Given the description of an element on the screen output the (x, y) to click on. 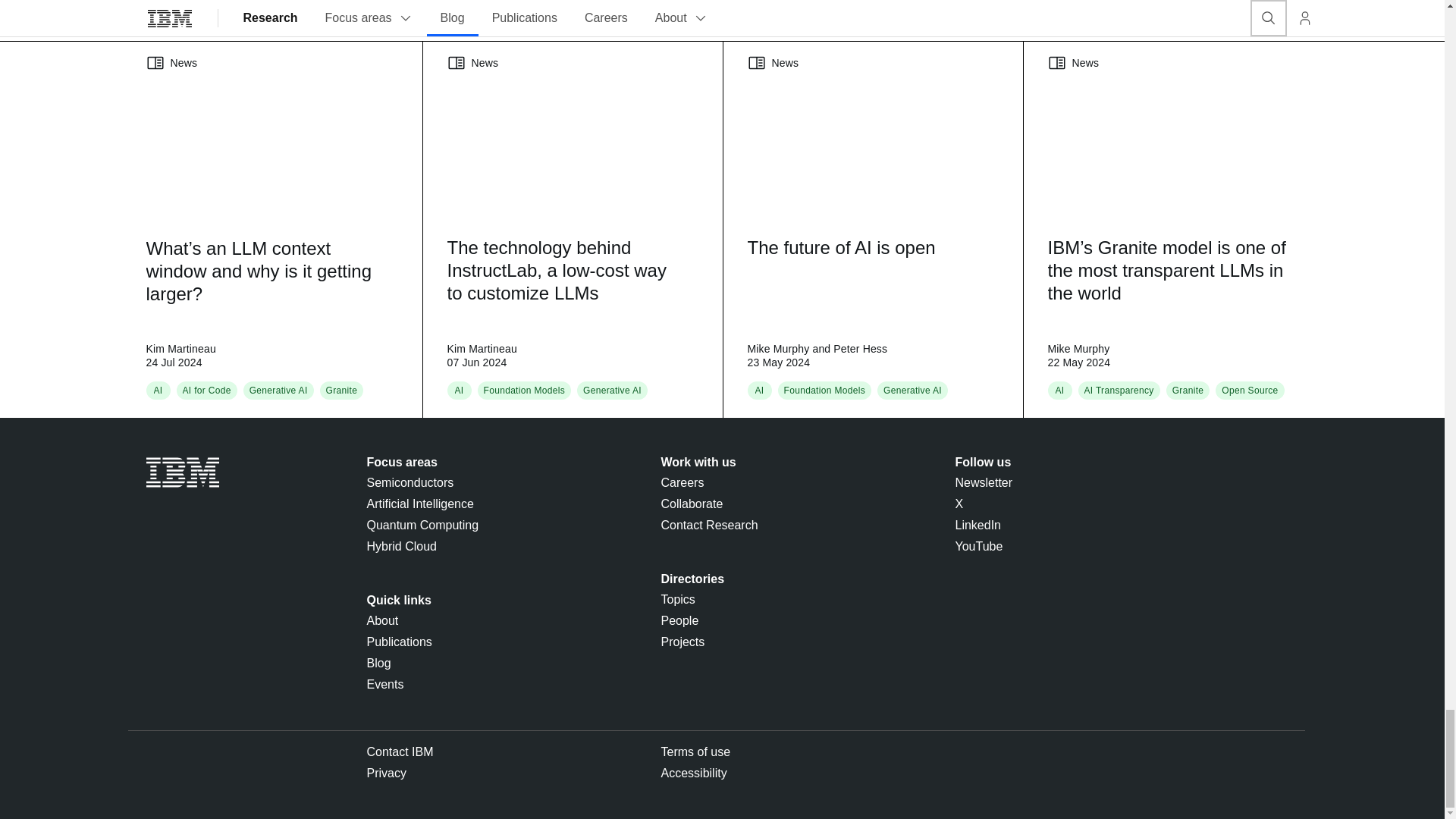
AI Transparency (1119, 390)
Generative AI (277, 390)
IBM Logo (181, 472)
Generative AI (912, 390)
Generative AI (612, 390)
Granite (342, 390)
Foundation Models (825, 390)
Foundation Models (524, 390)
AI for Code (206, 390)
